Given the description of an element on the screen output the (x, y) to click on. 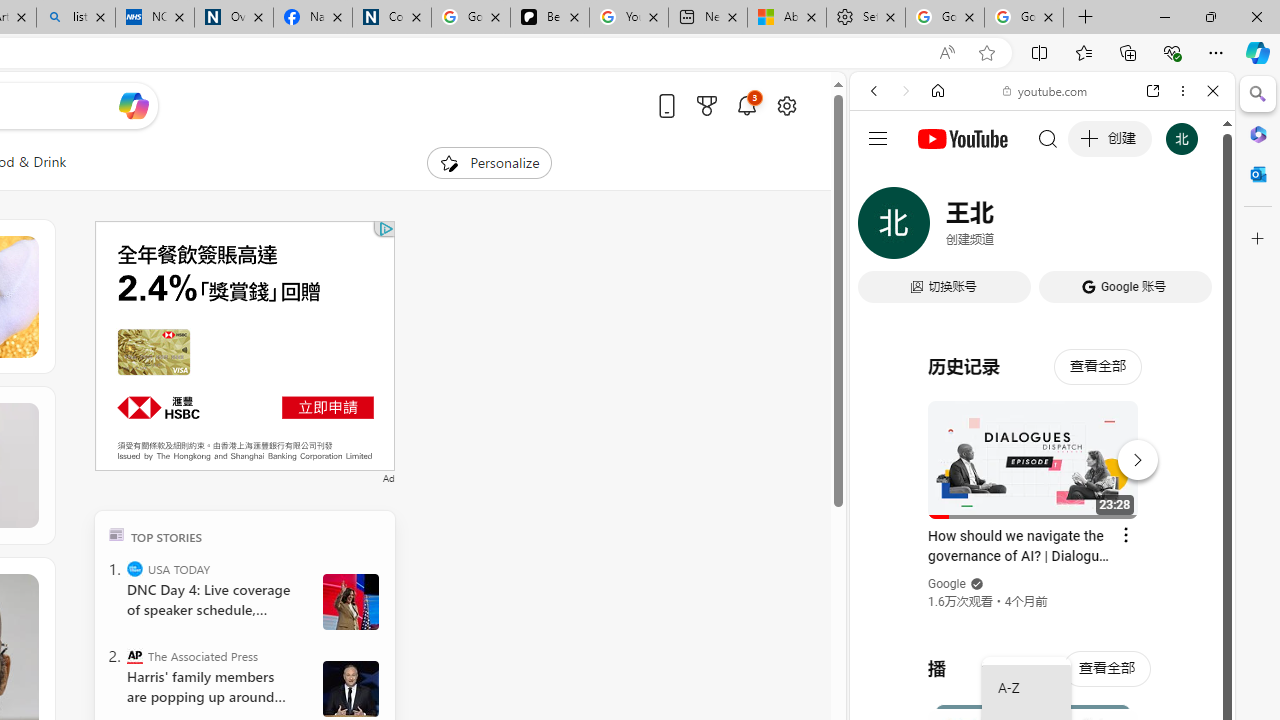
Be Smart | creating Science videos | Patreon (549, 17)
Cookies (392, 17)
youtube.com (1046, 90)
